Given the description of an element on the screen output the (x, y) to click on. 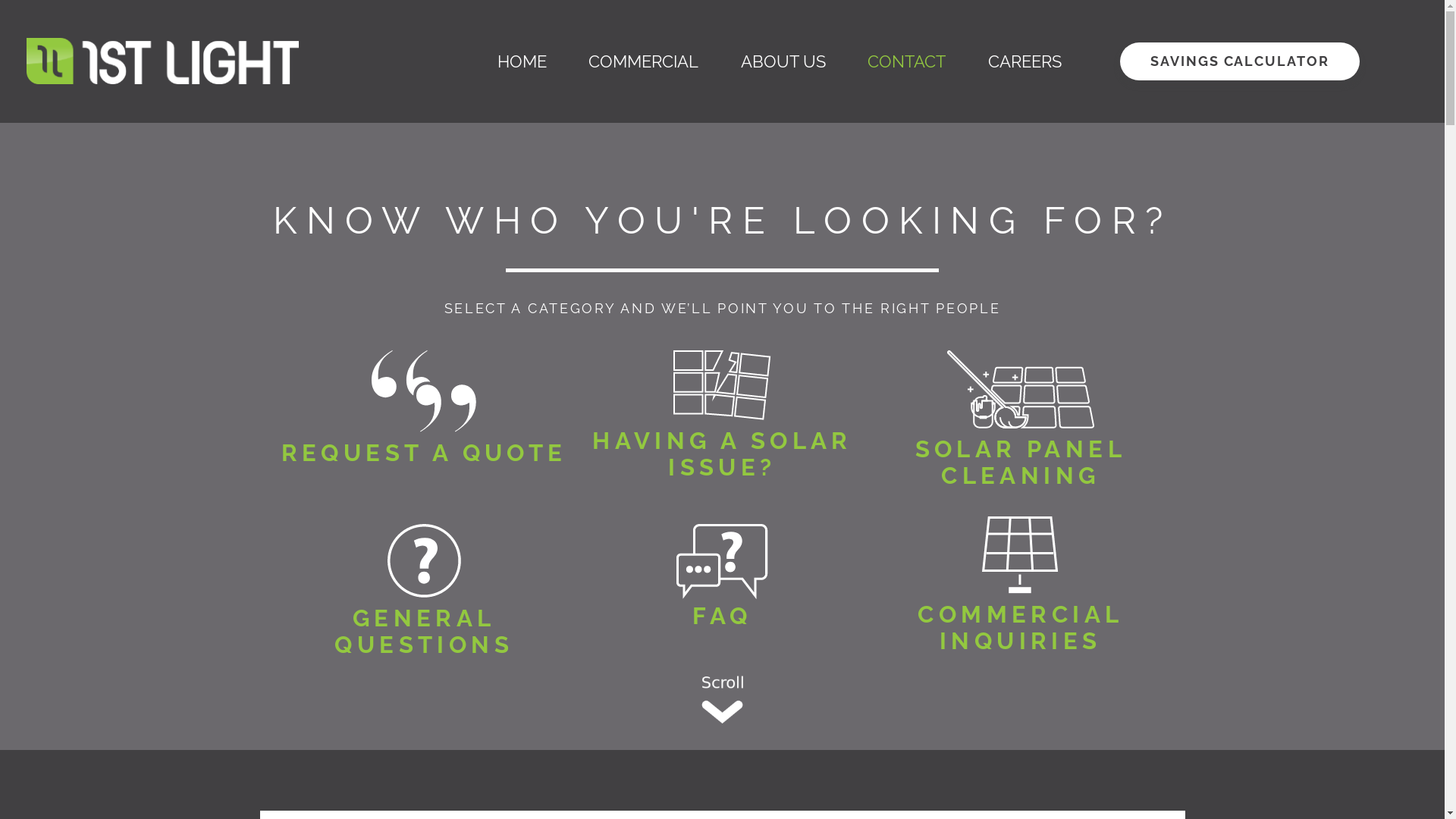
SAVINGS CALCULATOR Element type: text (1239, 59)
HOME Element type: text (521, 61)
CAREERS Element type: text (1024, 61)
COMMERCIAL Element type: text (643, 61)
CONTACT Element type: text (906, 61)
SAVINGS CALCULATOR Element type: text (1239, 61)
ABOUT US Element type: text (782, 61)
FAQ Element type: text (721, 615)
